Given the description of an element on the screen output the (x, y) to click on. 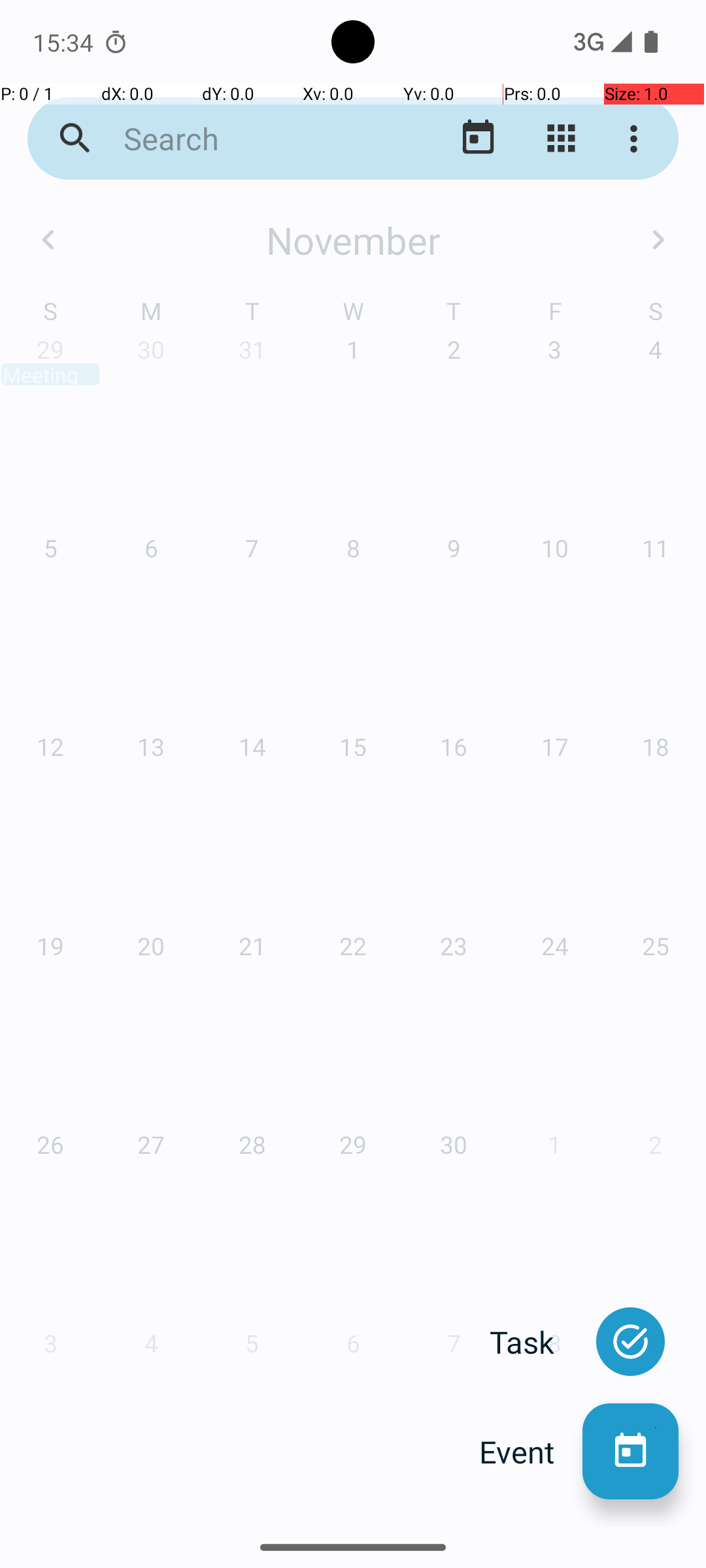
November Element type: android.widget.TextView (352, 239)
